Given the description of an element on the screen output the (x, y) to click on. 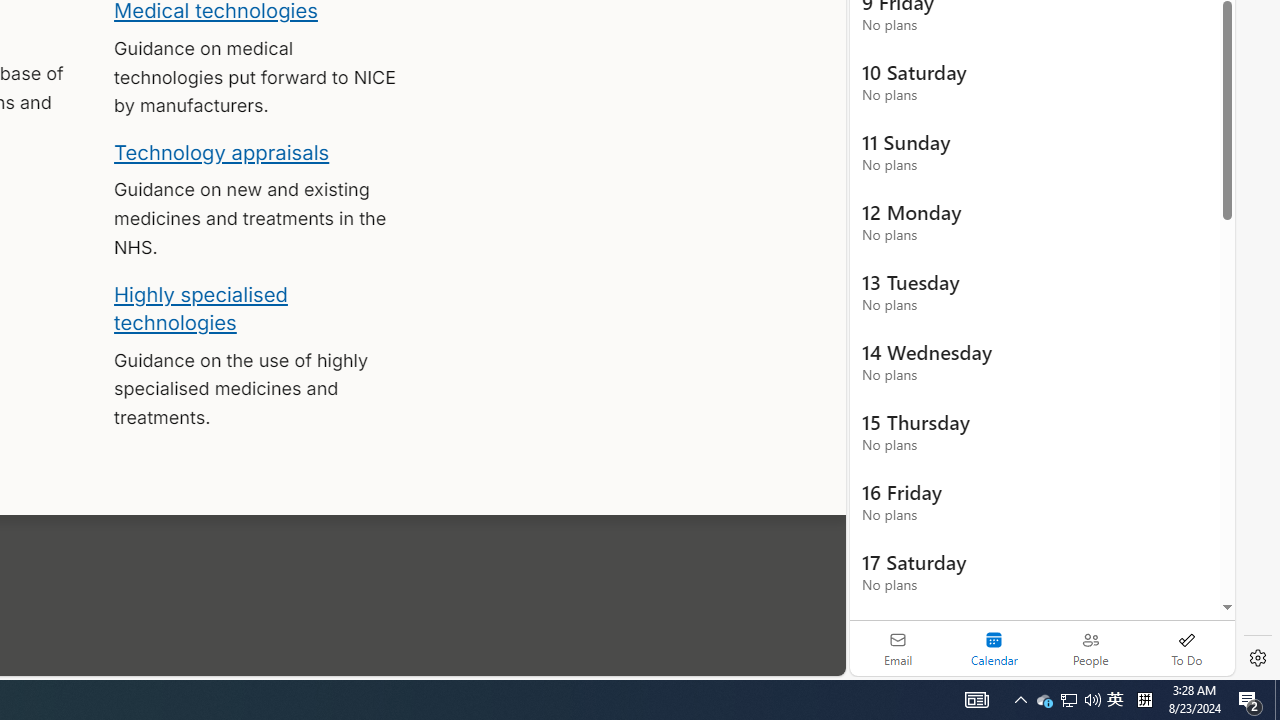
Highly specialised technologies (200, 308)
To Do (1186, 648)
Email (898, 648)
Selected calendar module. Date today is 22 (994, 648)
People (1090, 648)
Technology appraisals (221, 152)
